Given the description of an element on the screen output the (x, y) to click on. 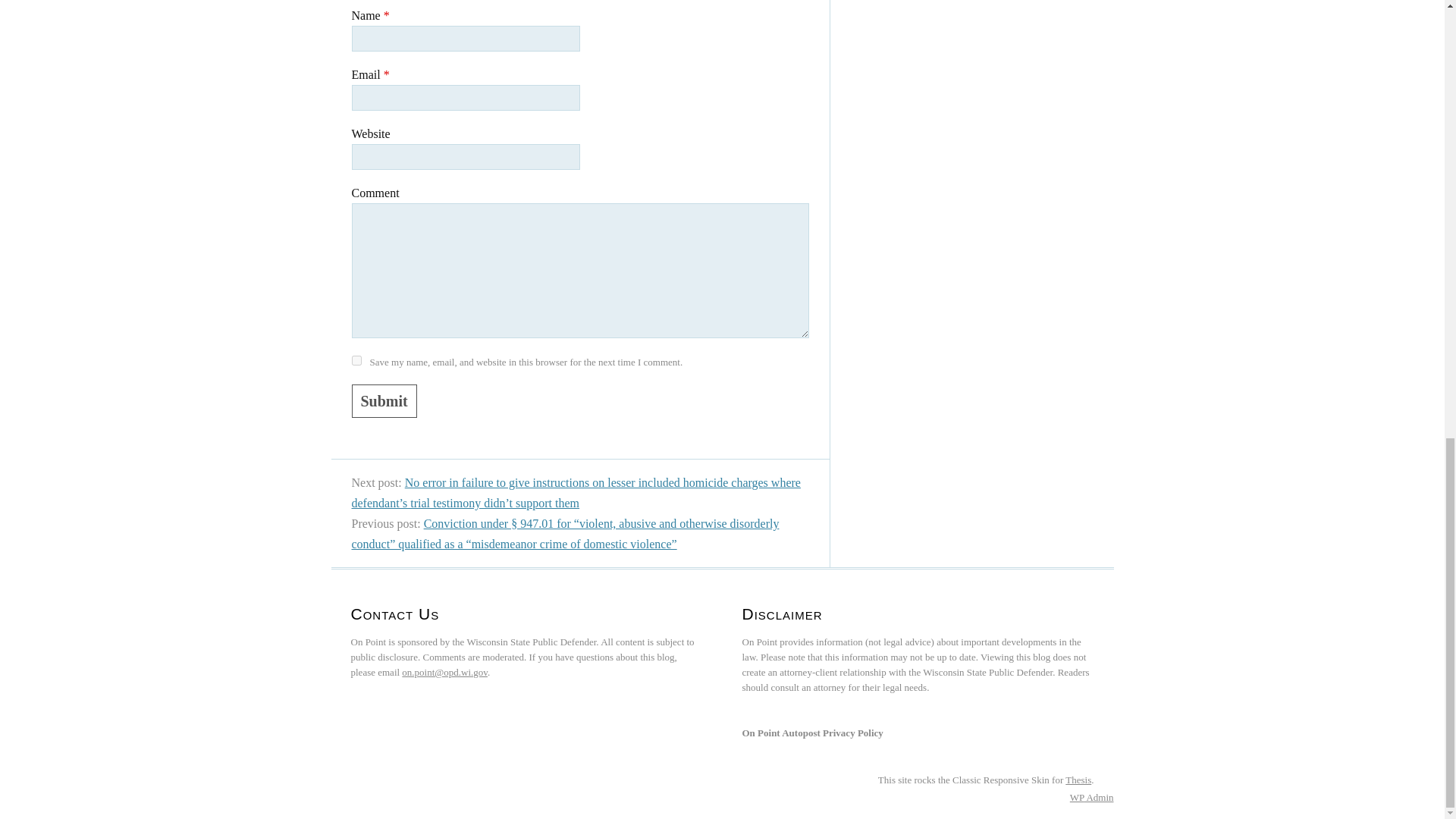
Submit (384, 400)
Submit (384, 400)
yes (356, 360)
Required (387, 74)
On Point Autopost Privacy Policy (811, 732)
Required (387, 15)
WordPress (1077, 797)
WP Admin (1091, 797)
Thesis (1077, 779)
